Given the description of an element on the screen output the (x, y) to click on. 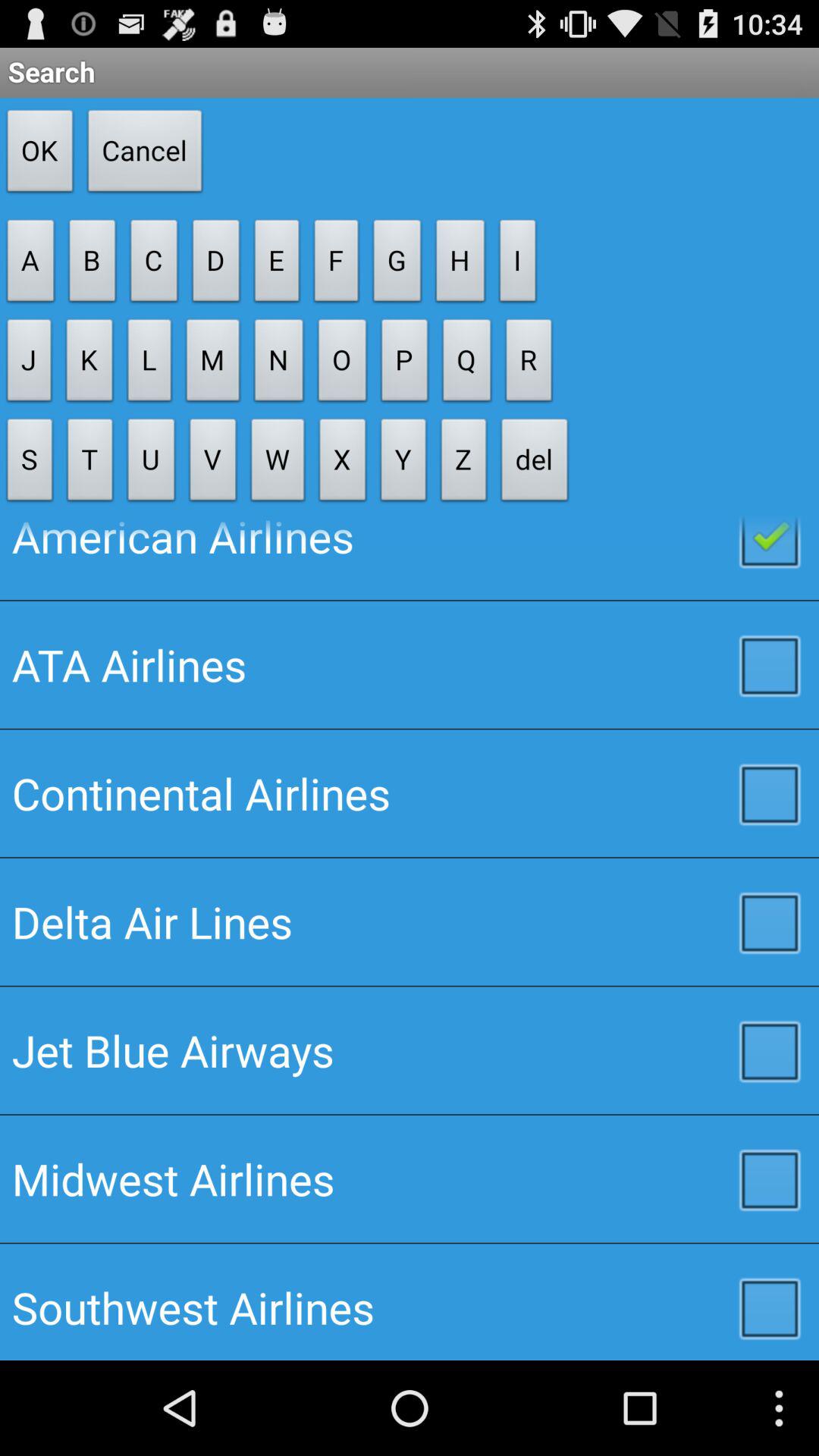
flip to continental airlines item (409, 793)
